Given the description of an element on the screen output the (x, y) to click on. 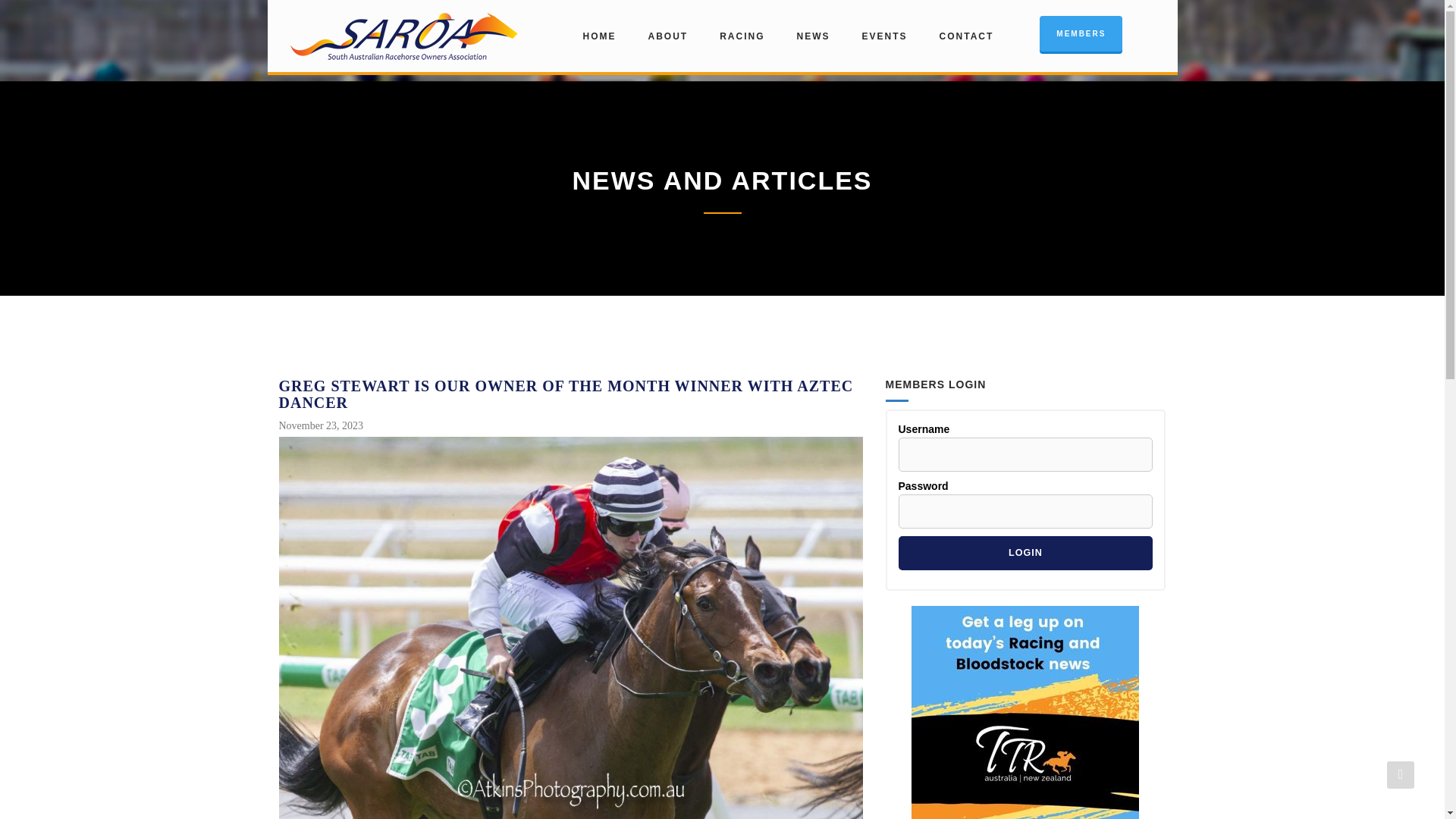
November 23, 2023 (322, 425)
Login (1025, 553)
MEMBERS (1080, 33)
Login (1025, 553)
